Given the description of an element on the screen output the (x, y) to click on. 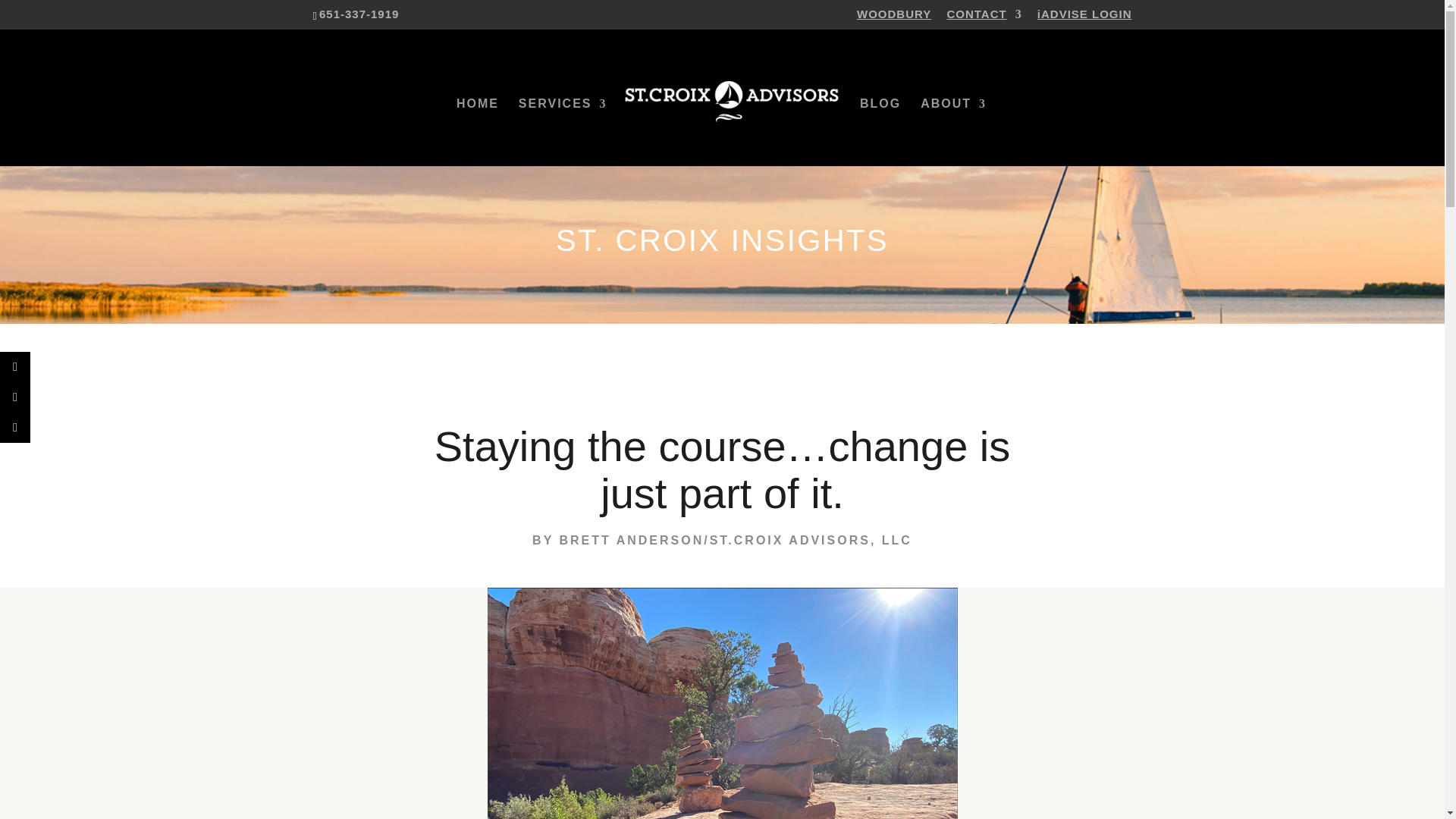
iADVISE LOGIN (1084, 17)
SERVICES (562, 132)
WOODBURY (894, 17)
HOME (478, 132)
ABOUT (953, 132)
CONTACT (984, 17)
BLOG (880, 132)
august-blog-2020 (721, 703)
